Given the description of an element on the screen output the (x, y) to click on. 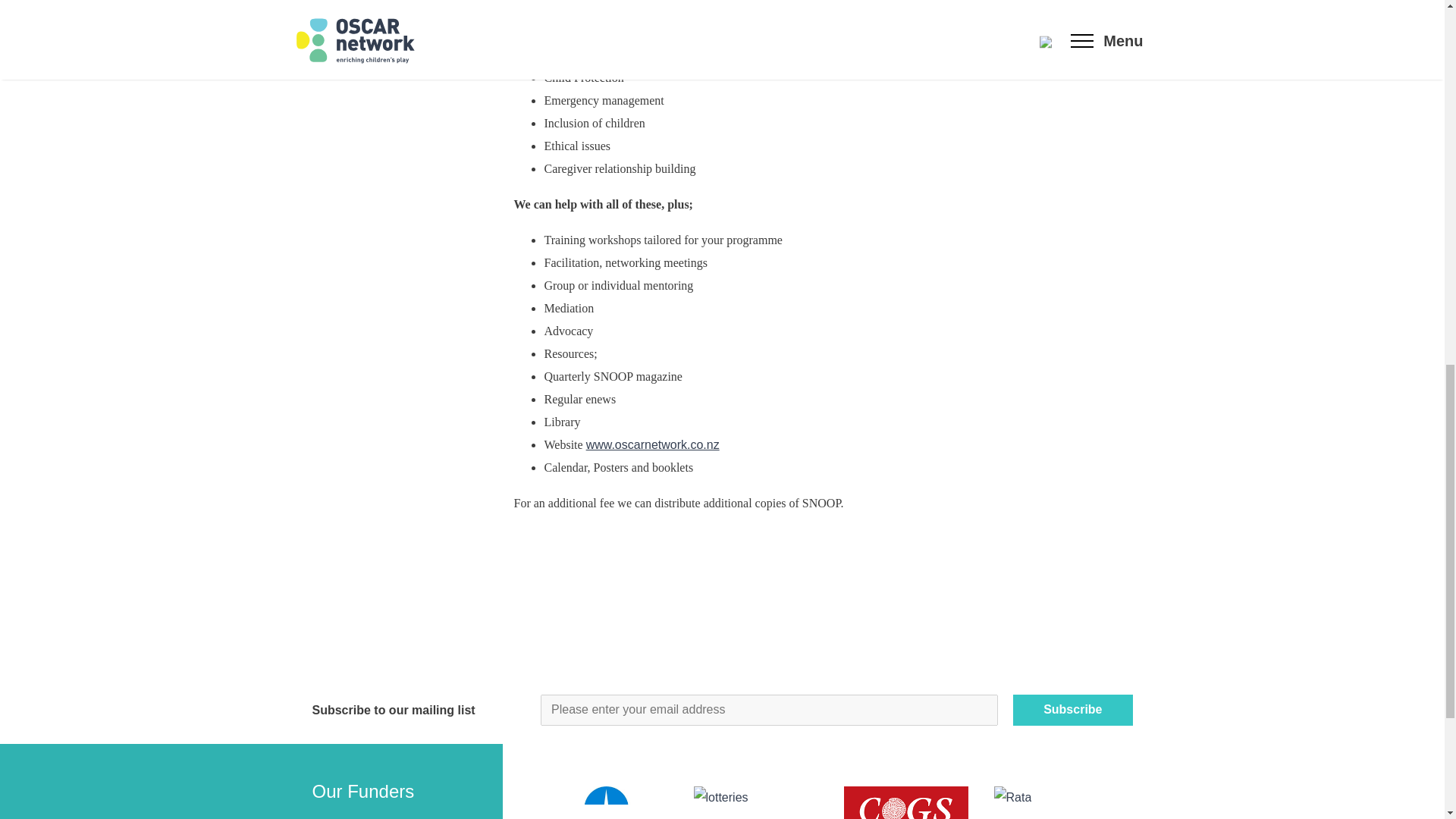
Subscribe (1072, 709)
www.oscarnetwork.co.nz (652, 444)
Subscribe (1072, 709)
